Given the description of an element on the screen output the (x, y) to click on. 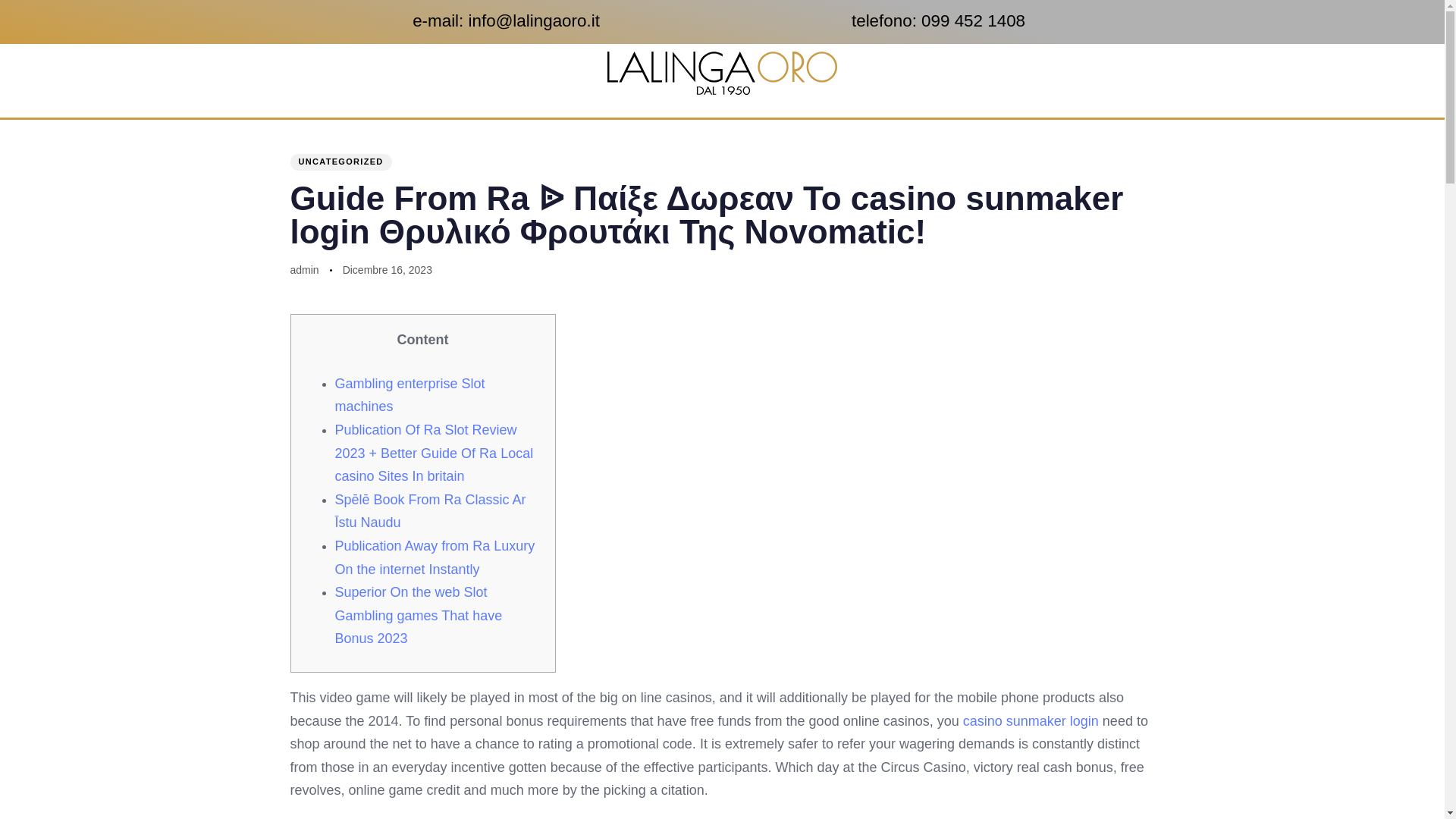
Publication Away from Ra Luxury On the internet Instantly (434, 557)
Posts by admin (303, 269)
admin (303, 269)
Gambling enterprise Slot machines (409, 394)
UNCATEGORIZED (340, 161)
Superior On the web Slot Gambling games That have Bonus 2023 (418, 615)
casino sunmaker login (1030, 720)
Dicembre 16, 2023 (387, 270)
